Given the description of an element on the screen output the (x, y) to click on. 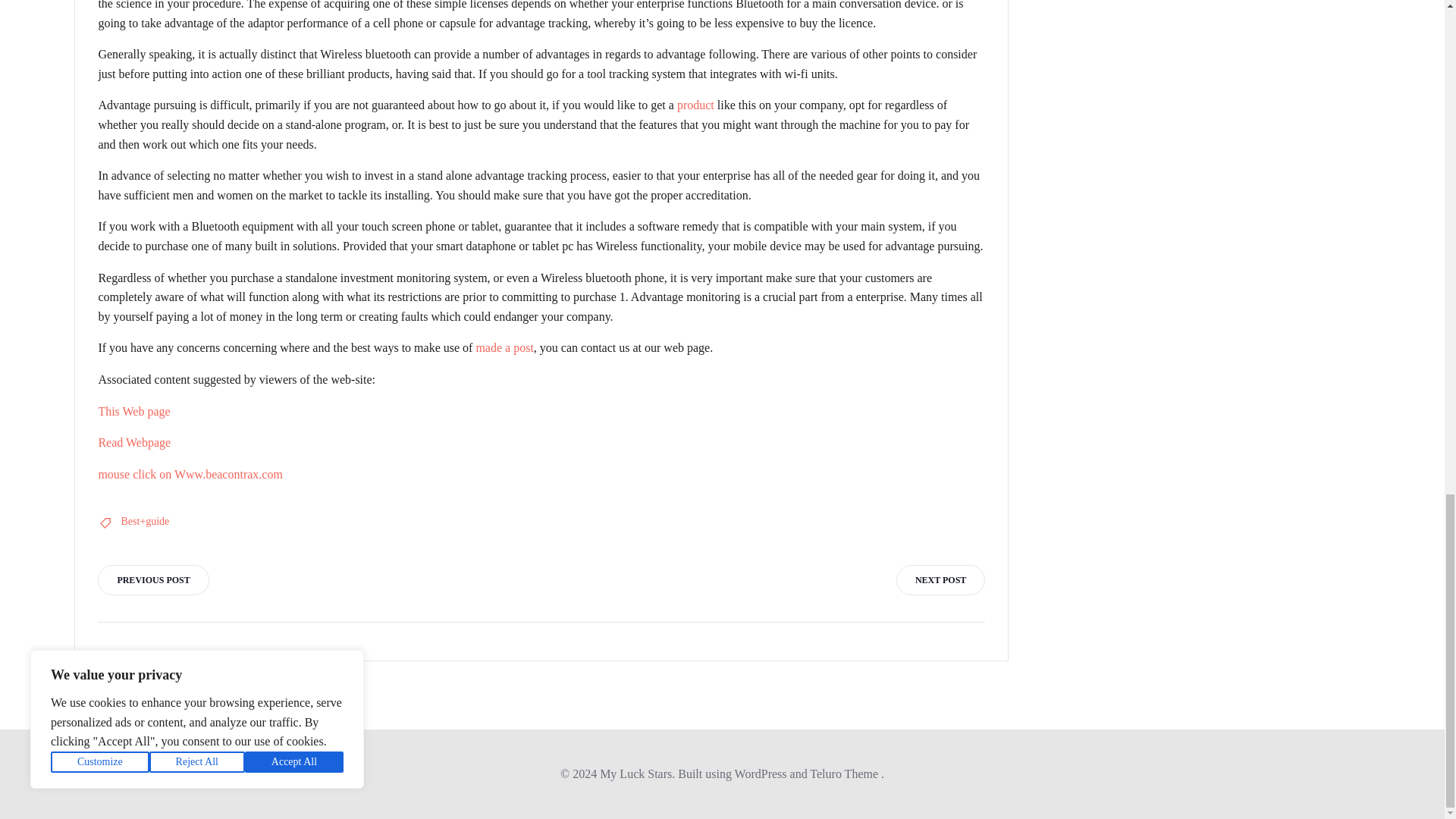
Read Webpage (133, 441)
product (695, 104)
PREVIOUS POST (152, 580)
mouse click on Www.beacontrax.com (189, 473)
made a post (504, 347)
This Web page (133, 410)
NEXT POST (940, 580)
